Given the description of an element on the screen output the (x, y) to click on. 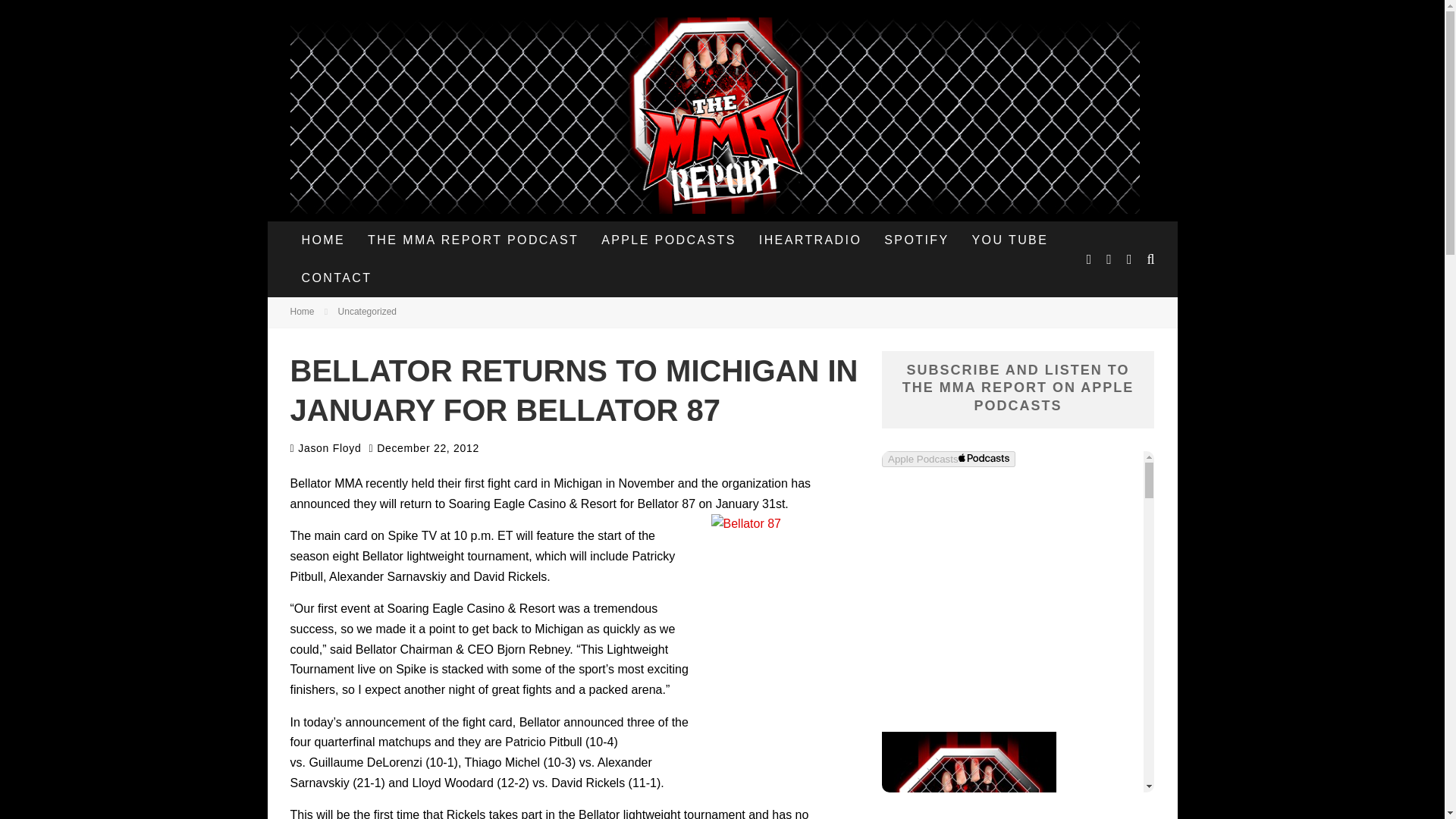
HOME (322, 240)
Uncategorized (366, 311)
IHEARTRADIO (810, 240)
SPOTIFY (915, 240)
CONTACT (335, 278)
Jason Floyd (325, 448)
YOU TUBE (1009, 240)
THE MMA REPORT PODCAST (472, 240)
APPLE PODCASTS (668, 240)
Home (301, 311)
